Given the description of an element on the screen output the (x, y) to click on. 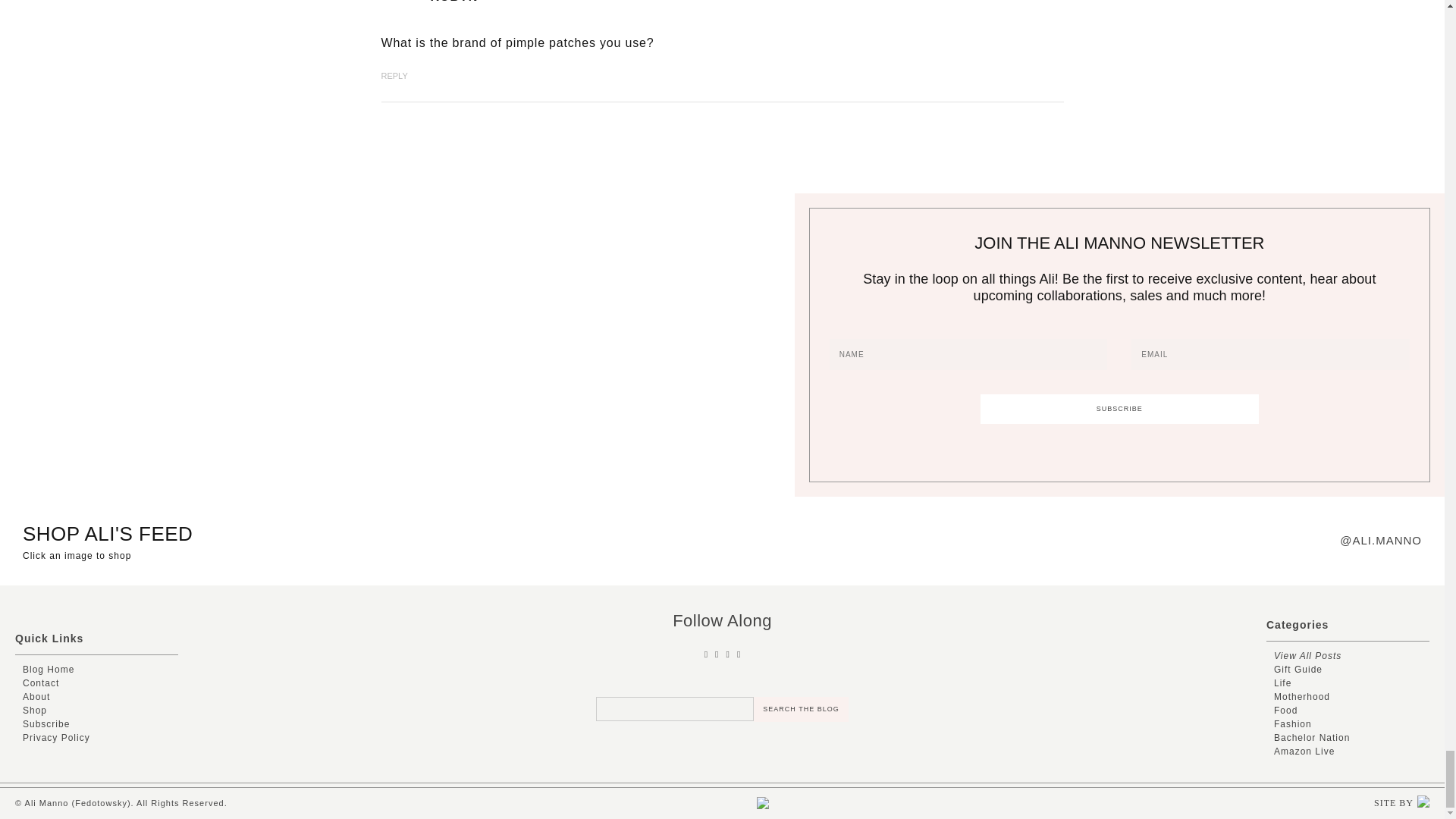
search the blog (800, 708)
Subscribe (1119, 408)
search the blog (800, 708)
